Given the description of an element on the screen output the (x, y) to click on. 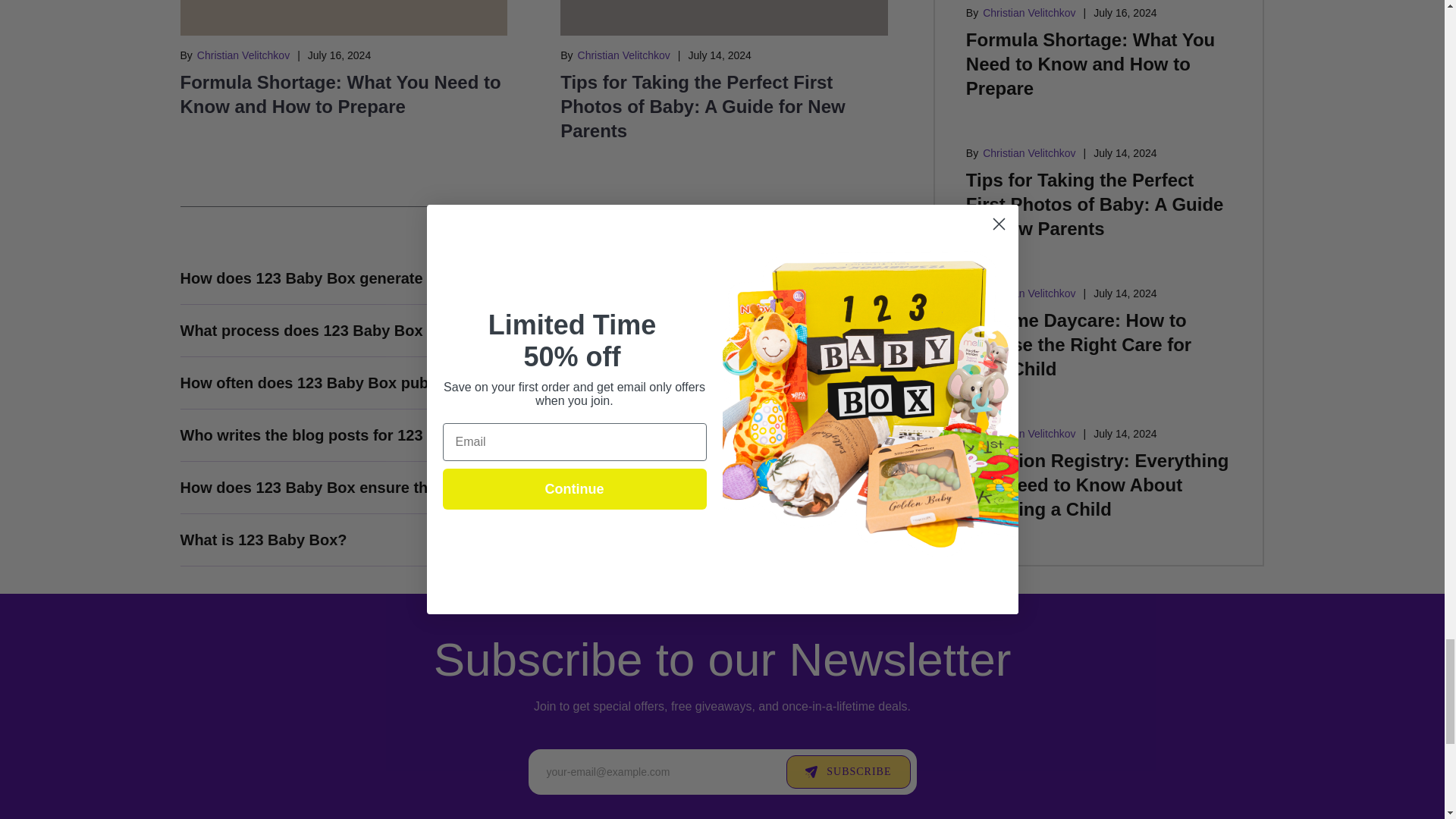
SUBSCRIBE (848, 771)
Formula Shortage: What You Need to Know and How to Prepare (340, 94)
